Given the description of an element on the screen output the (x, y) to click on. 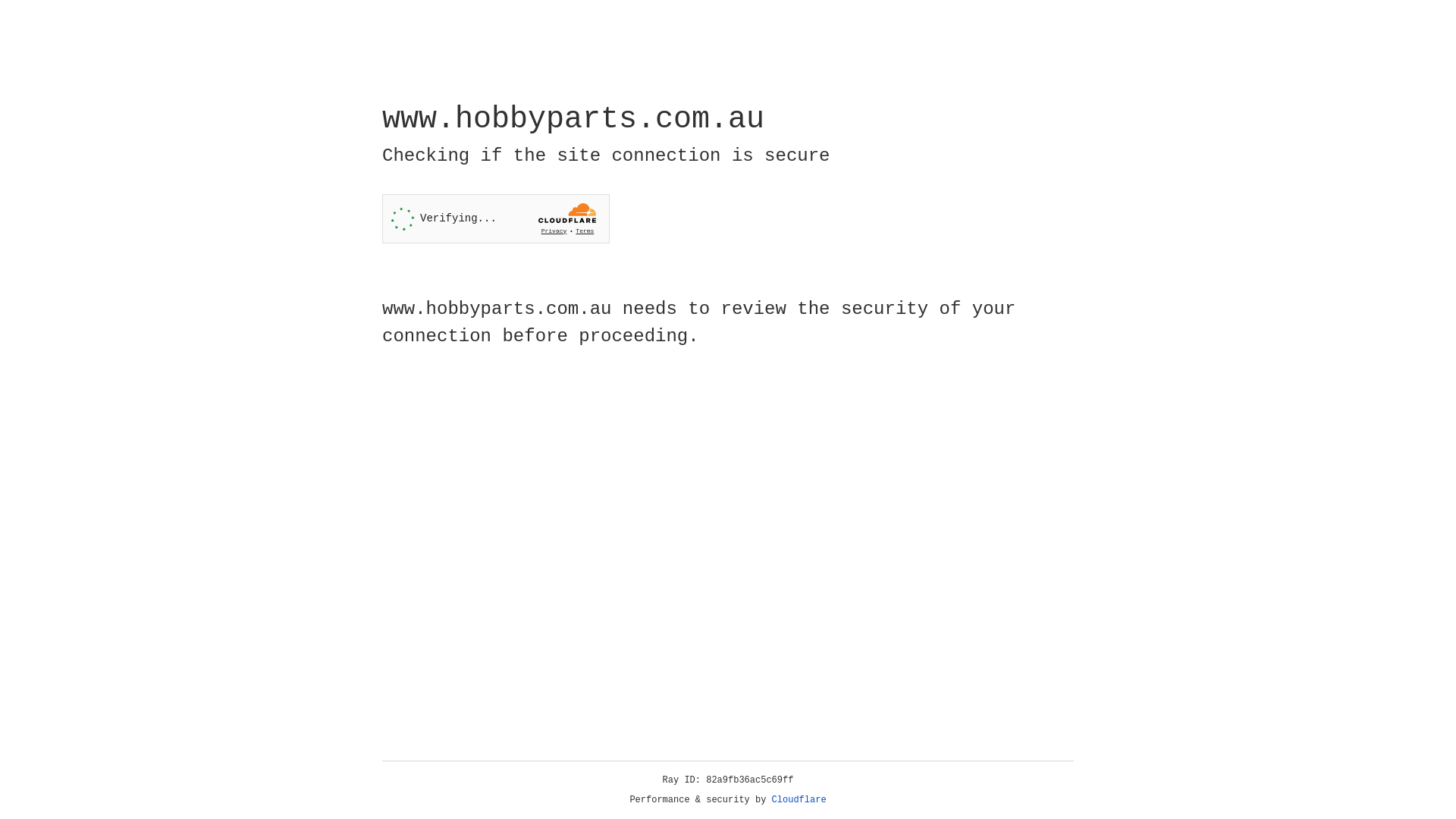
Widget containing a Cloudflare security challenge Element type: hover (495, 218)
Cloudflare Element type: text (798, 799)
